Given the description of an element on the screen output the (x, y) to click on. 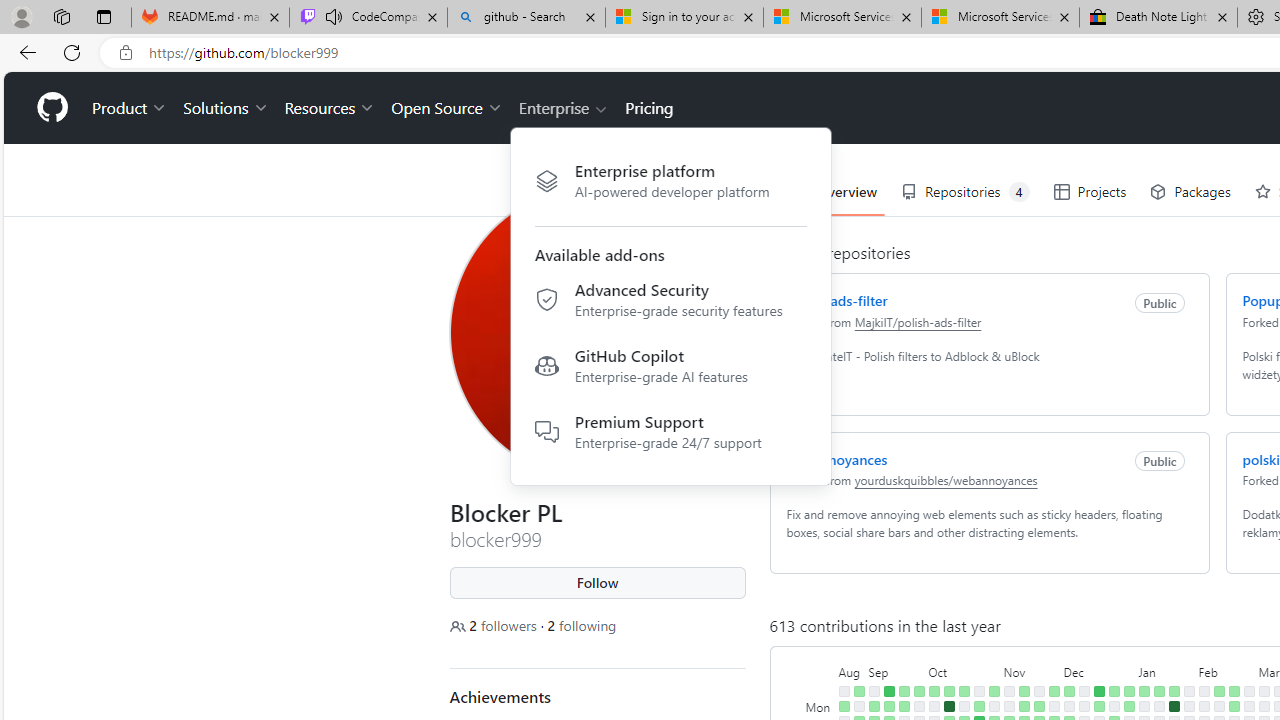
No contributions on December 25th. (1114, 706)
1 contribution on December 31st. (1128, 691)
3 contributions on November 20th. (1038, 706)
5 contributions on February 19th. (1233, 706)
4 contributions on January 14th. (1158, 691)
Workspaces (61, 16)
MajkiIT/polish-ads-filter (917, 321)
No contributions on January 8th. (1143, 706)
Back (24, 52)
polish-ads-filter (836, 300)
Microsoft Services Agreement (1000, 17)
Close tab (1222, 16)
Monday (819, 706)
GitHub Copilot Enterprise-grade AI features (669, 369)
No contributions on December 4th. (1068, 706)
